Given the description of an element on the screen output the (x, y) to click on. 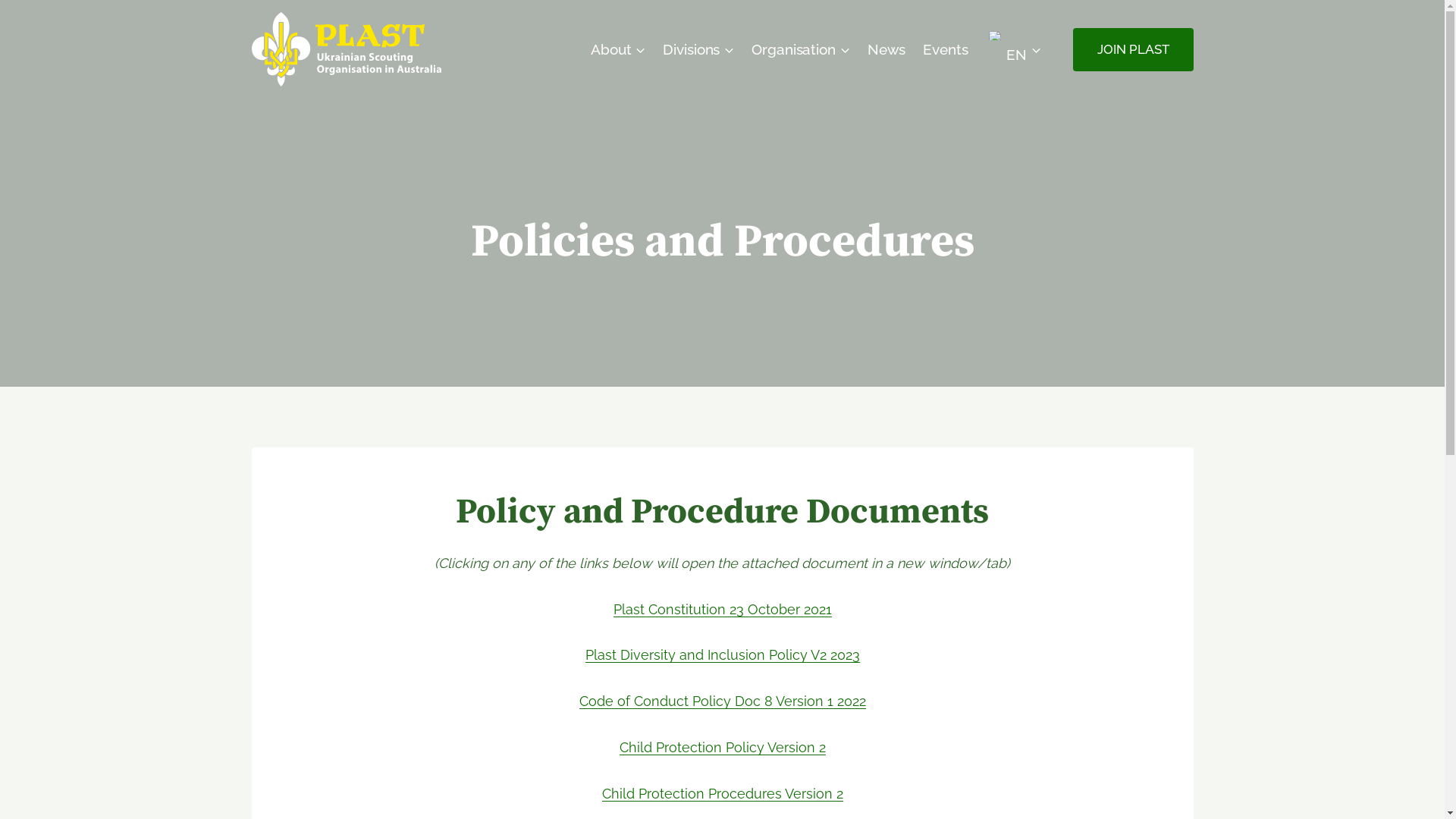
JOIN PLAST Element type: text (1132, 48)
Plast Diversity and Inclusion Policy V2 2023 Element type: text (722, 654)
Child Protection Policy Version 2 Element type: text (721, 747)
Events Element type: text (945, 48)
Code of Conduct Policy Doc 8 Version 1 2022 Element type: text (722, 701)
Child Protection Procedures Version 2 Element type: text (722, 793)
Organisation Element type: text (801, 48)
About Element type: text (618, 48)
Divisions Element type: text (698, 48)
Plast Constitution 23 October 2021 Element type: text (721, 609)
EN Element type: text (1013, 49)
English (Australia) Element type: hover (995, 35)
News Element type: text (885, 48)
